Given the description of an element on the screen output the (x, y) to click on. 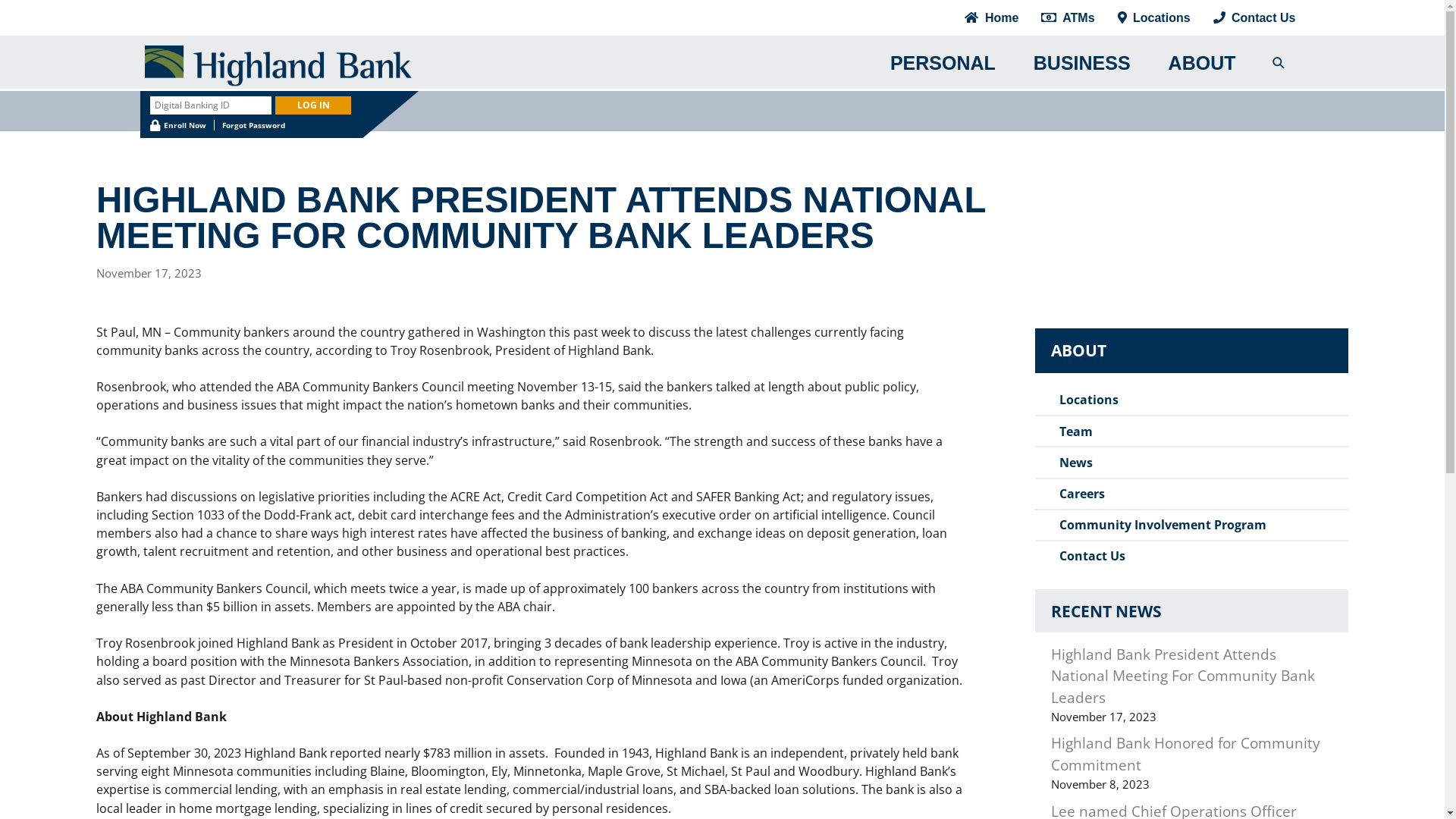
ABOUT Element type: text (1191, 350)
Contact Us Element type: text (1250, 18)
BUSINESS Element type: text (1081, 63)
Highland Bank Element type: hover (505, 65)
Locations Element type: text (1153, 18)
Home Element type: text (991, 18)
Log In Element type: text (313, 105)
Contact Us Element type: text (1092, 556)
ATMs Element type: text (1067, 18)
ABOUT Element type: text (1202, 63)
Search Element type: text (22, 15)
Careers Element type: text (1081, 493)
Team Element type: text (1075, 430)
Locations Element type: text (1088, 399)
Enroll Now Element type: text (178, 124)
Forgot Password Element type: text (253, 124)
Community Involvement Program Element type: text (1162, 524)
News Element type: text (1075, 461)
PERSONAL Element type: text (942, 63)
Highland Bank Honored for Community Commitment Element type: text (1185, 754)
